Given the description of an element on the screen output the (x, y) to click on. 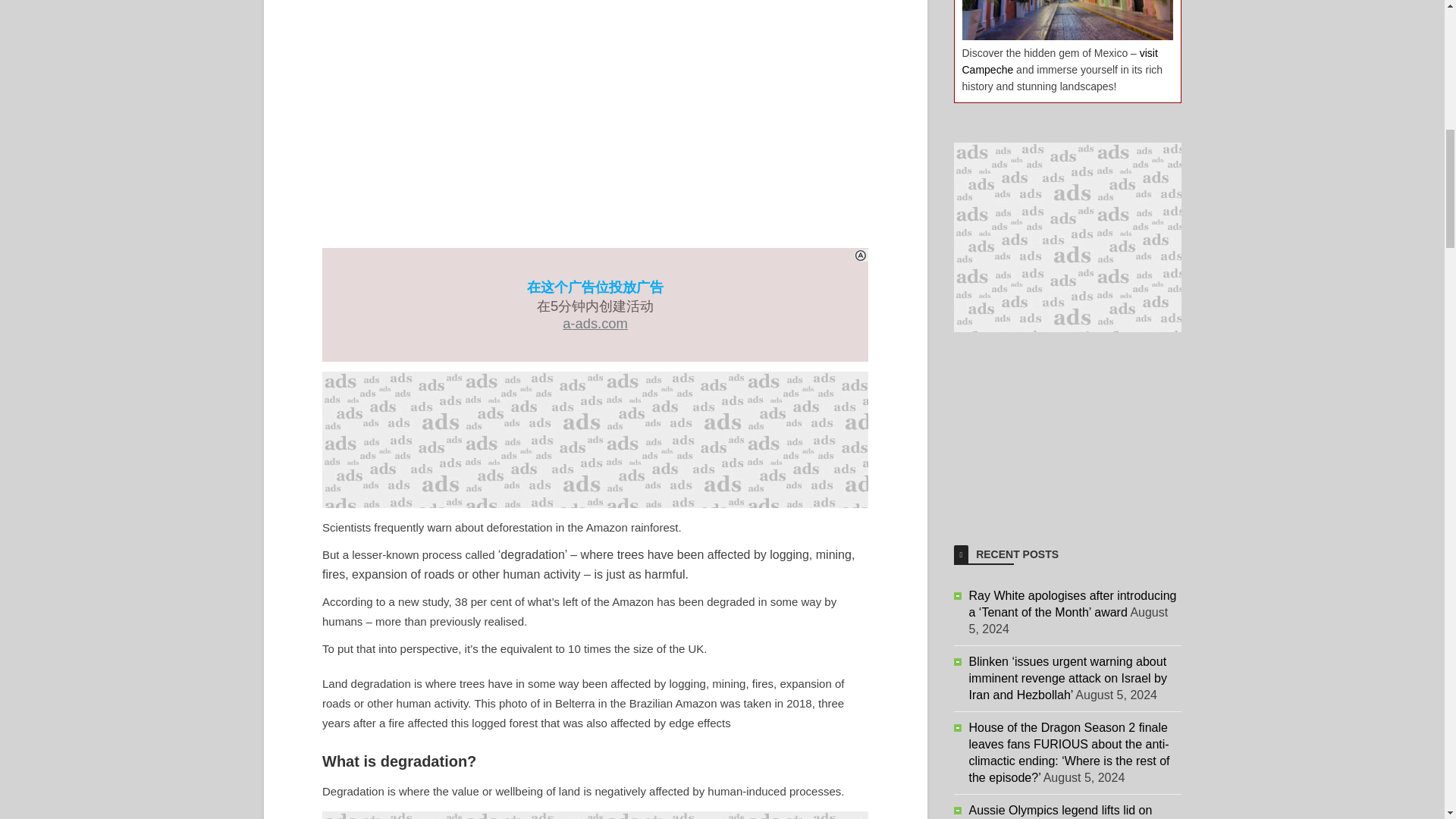
Advertisement (594, 815)
Advertisement (1066, 426)
visit Campeche (1058, 61)
Advertisement (594, 439)
